Given the description of an element on the screen output the (x, y) to click on. 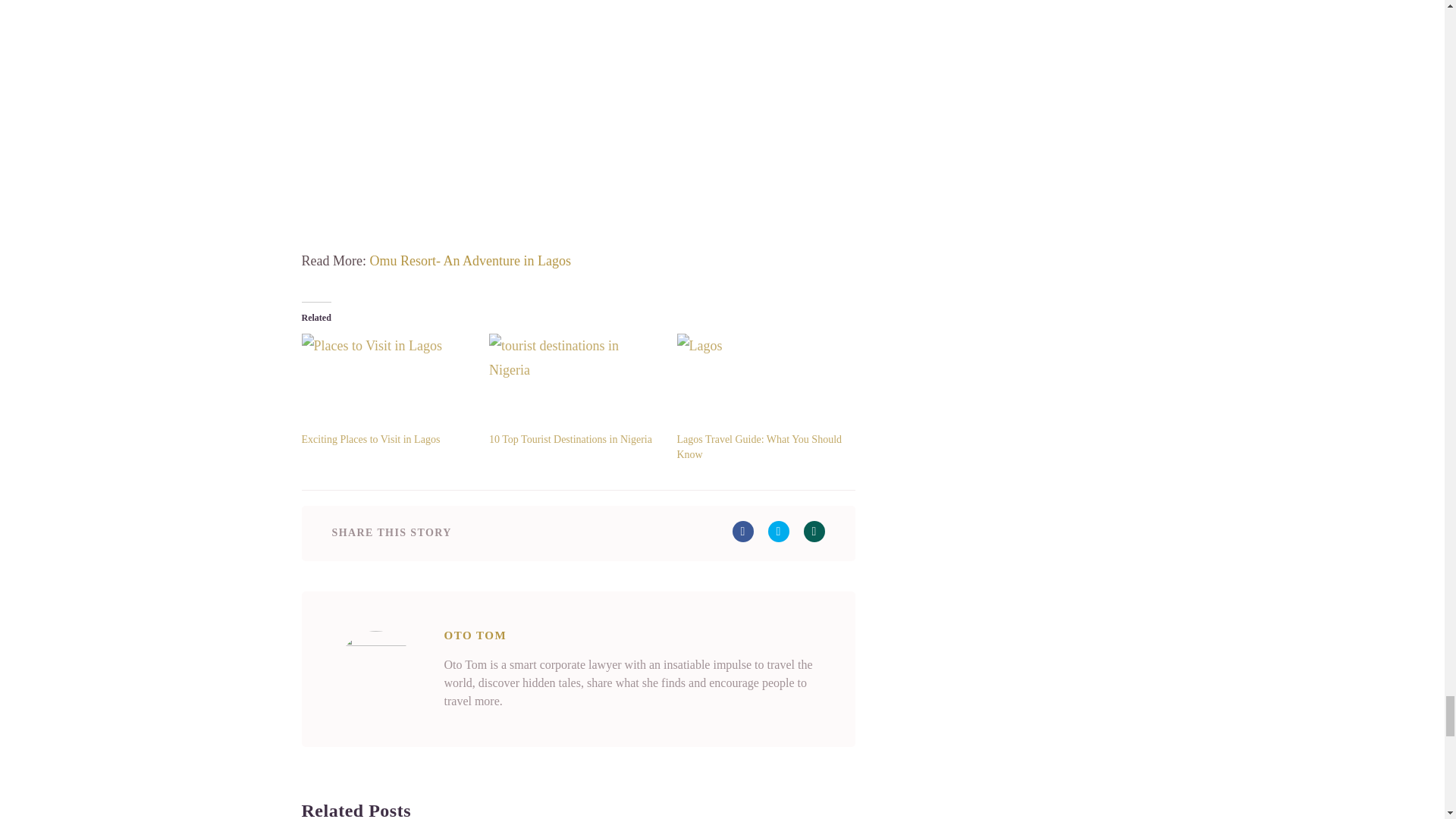
Exciting Places to Visit in Lagos (371, 439)
10 Top Tourist Destinations in Nigeria (575, 382)
Lagos Travel Guide: What You Should Know (762, 382)
OTO TOM (475, 635)
10 Top Tourist Destinations in Nigeria (570, 439)
Lagos Travel Guide: What You Should Know (759, 447)
Lagos Travel Guide: What You Should Know (759, 447)
Exciting Places to Visit in Lagos (371, 439)
Exciting Places to Visit in Lagos (387, 382)
Omu Resort- An Adventure in Lagos (469, 260)
